Given the description of an element on the screen output the (x, y) to click on. 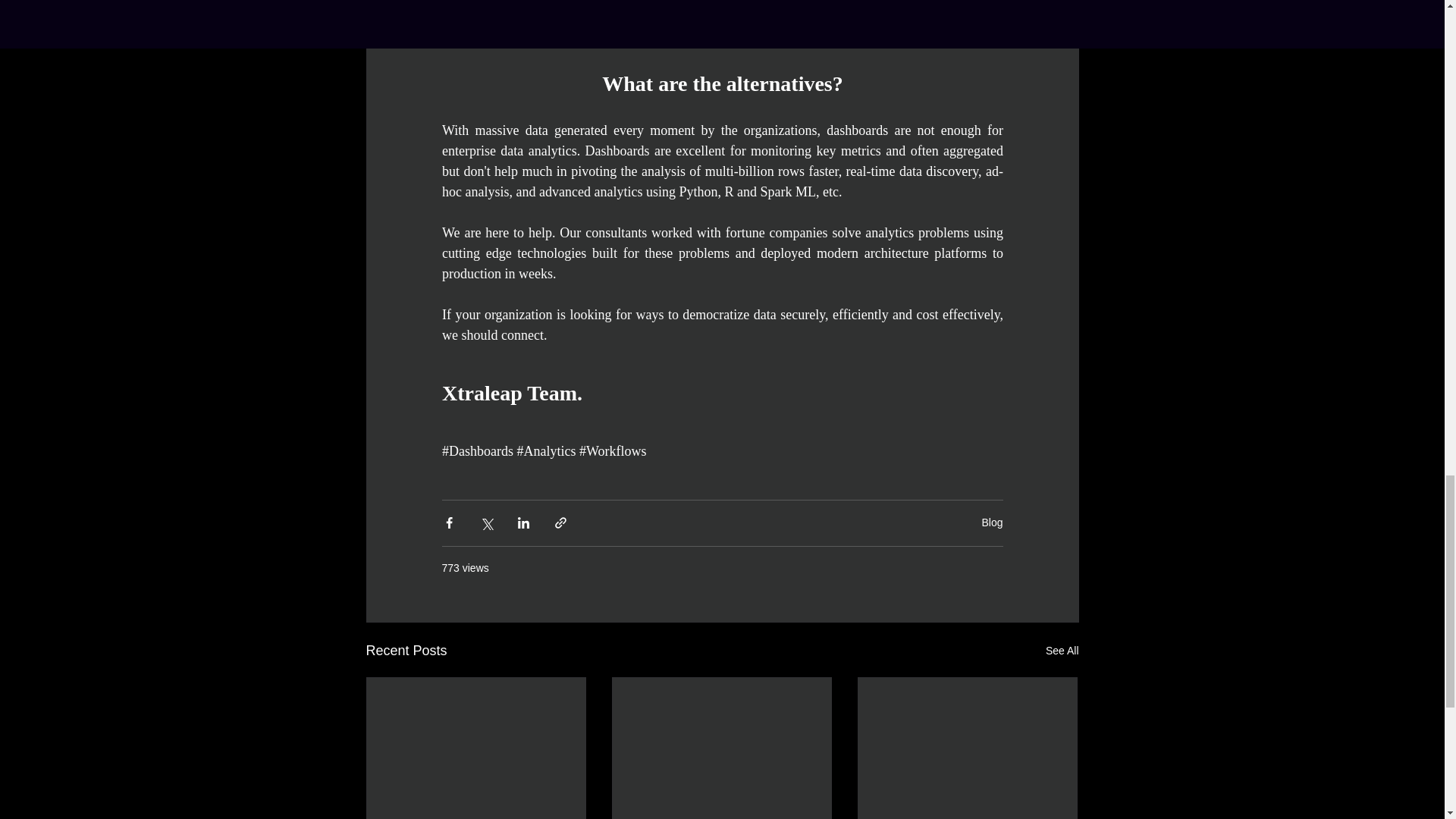
See All (1061, 650)
Blog (992, 522)
